Given the description of an element on the screen output the (x, y) to click on. 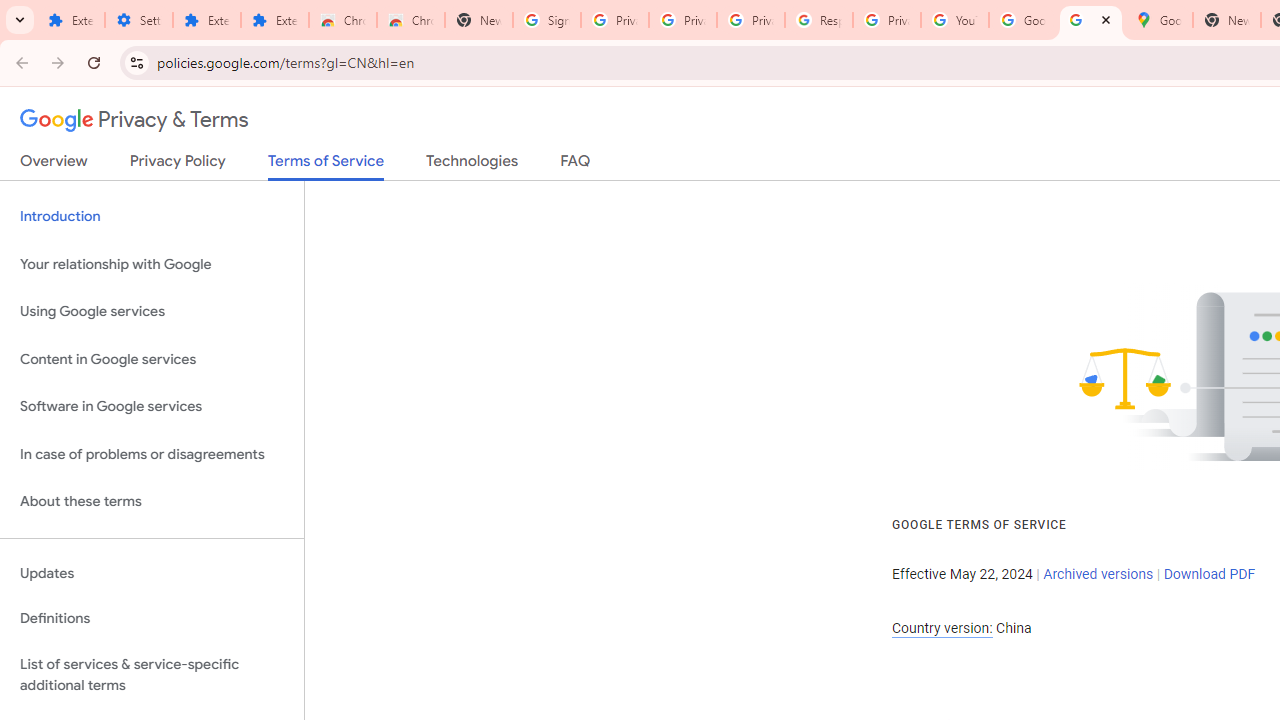
New Tab (1226, 20)
Software in Google services (152, 407)
Google Maps (1158, 20)
Using Google services (152, 312)
Extensions (70, 20)
Chrome Web Store (342, 20)
Settings (138, 20)
In case of problems or disagreements (152, 453)
Definitions (152, 619)
